Given the description of an element on the screen output the (x, y) to click on. 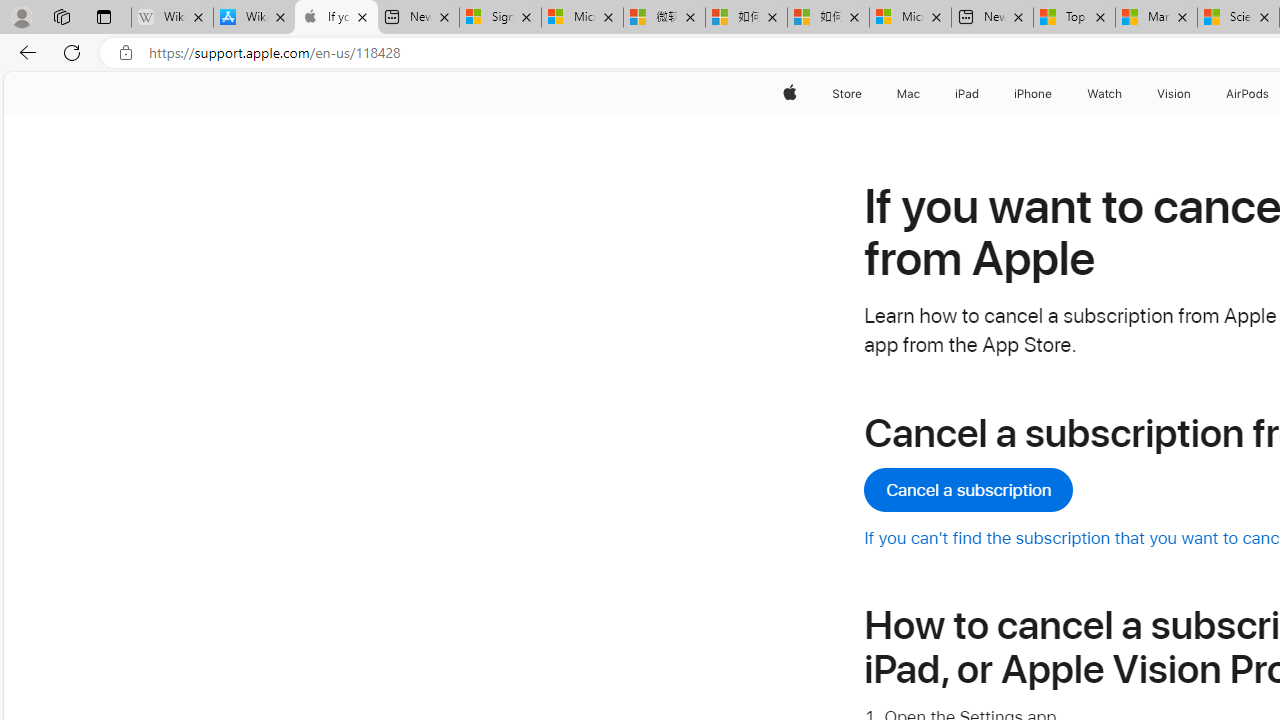
Top Stories - MSN (1074, 17)
Vision (1174, 93)
Store (846, 93)
Mac (908, 93)
AirPods (1247, 93)
Vision menu (1195, 93)
Workspaces (61, 16)
Microsoft account | Account Checkup (910, 17)
Watch (1105, 93)
AirPods (1247, 93)
iPad (965, 93)
Store (846, 93)
iPhone menu (1055, 93)
